Given the description of an element on the screen output the (x, y) to click on. 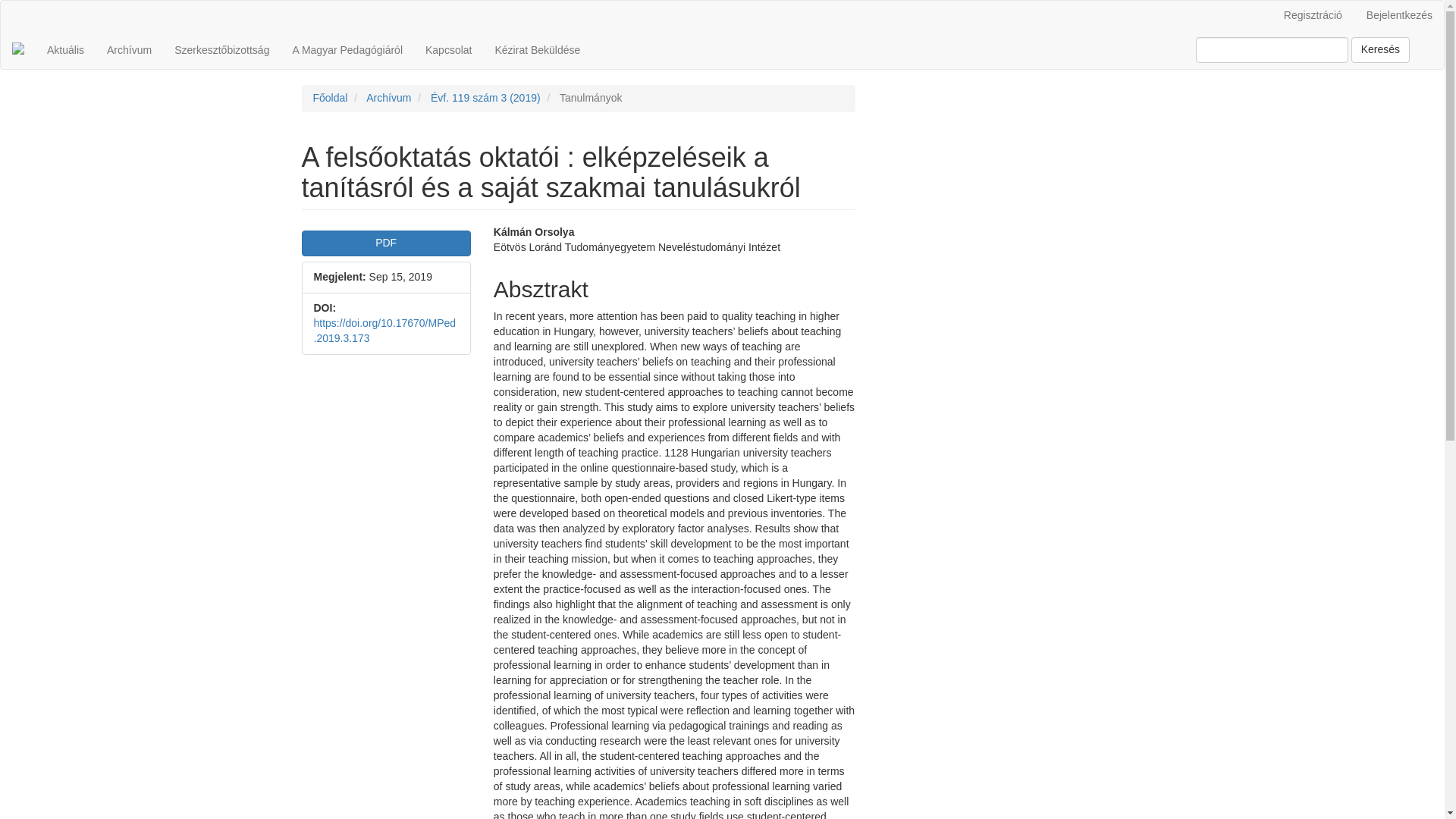
PDF (385, 243)
Kapcsolat (448, 49)
